Given the description of an element on the screen output the (x, y) to click on. 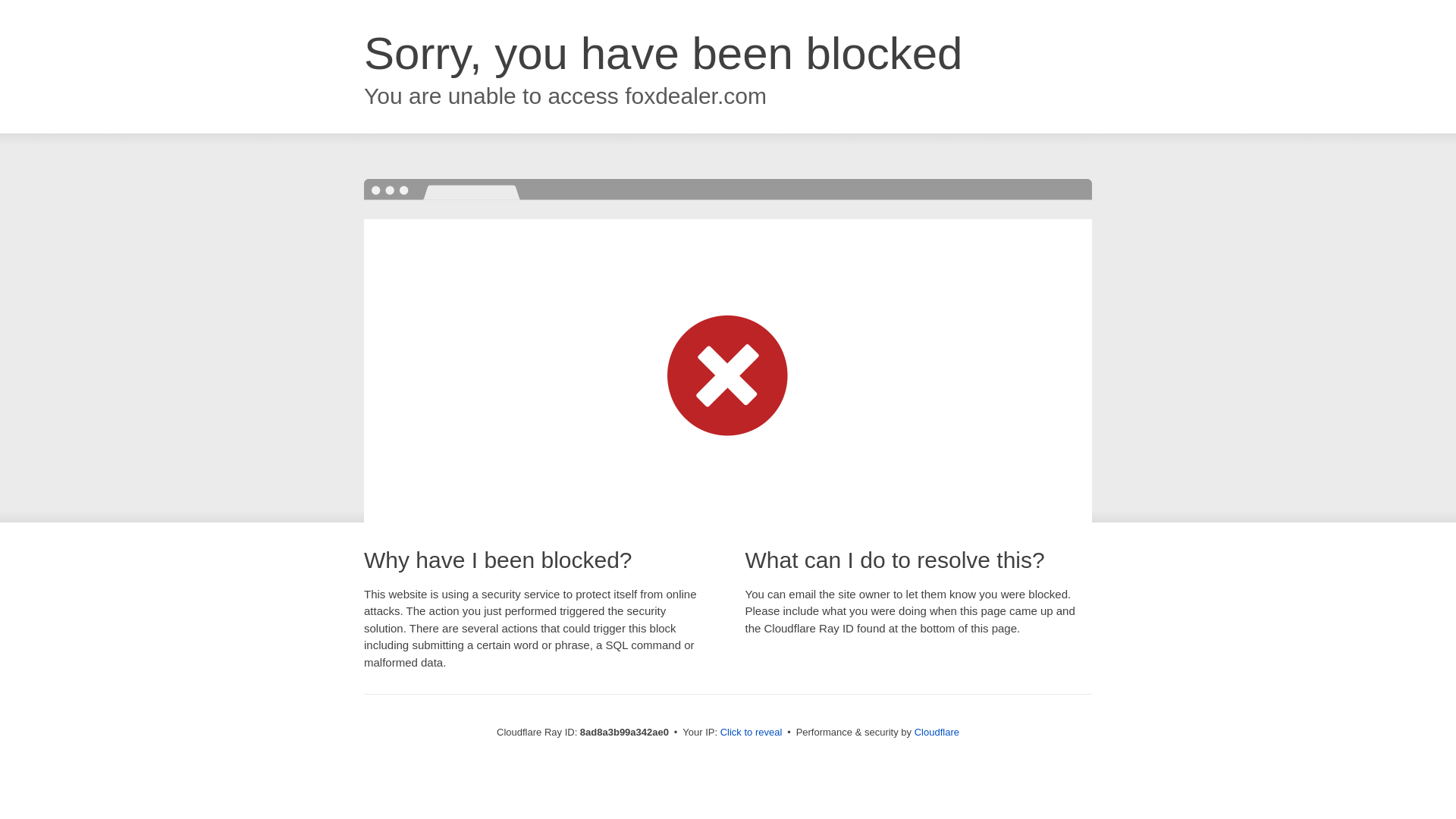
Click to reveal (751, 732)
Cloudflare (936, 731)
